Given the description of an element on the screen output the (x, y) to click on. 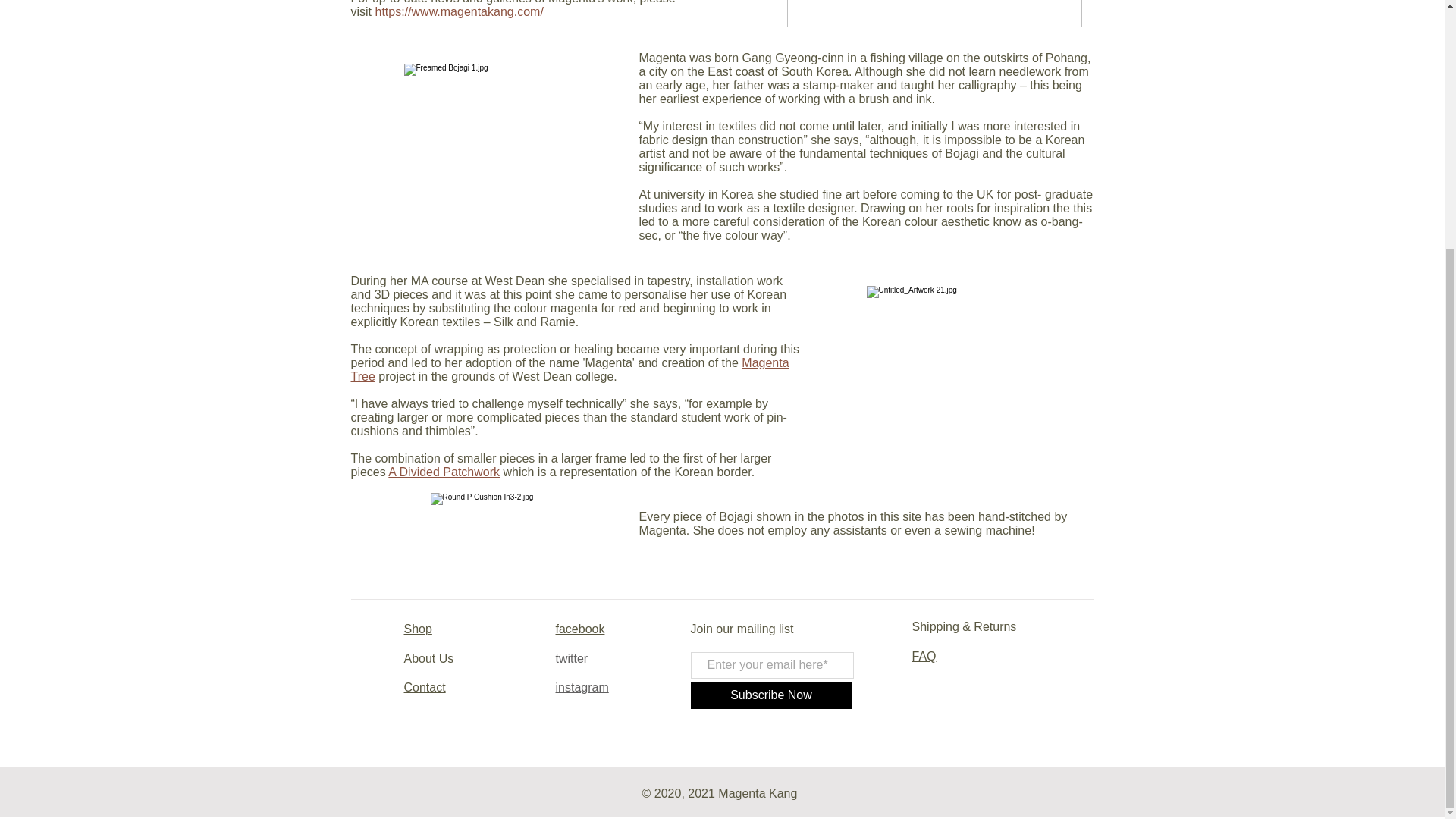
twitter (571, 658)
Subscribe Now (770, 695)
facebook (579, 628)
instagram (581, 686)
Shop (416, 628)
Contact (424, 686)
About Us (427, 658)
Magenta Tree (569, 369)
A Divided Patchwork (443, 472)
FAQ (923, 656)
